Given the description of an element on the screen output the (x, y) to click on. 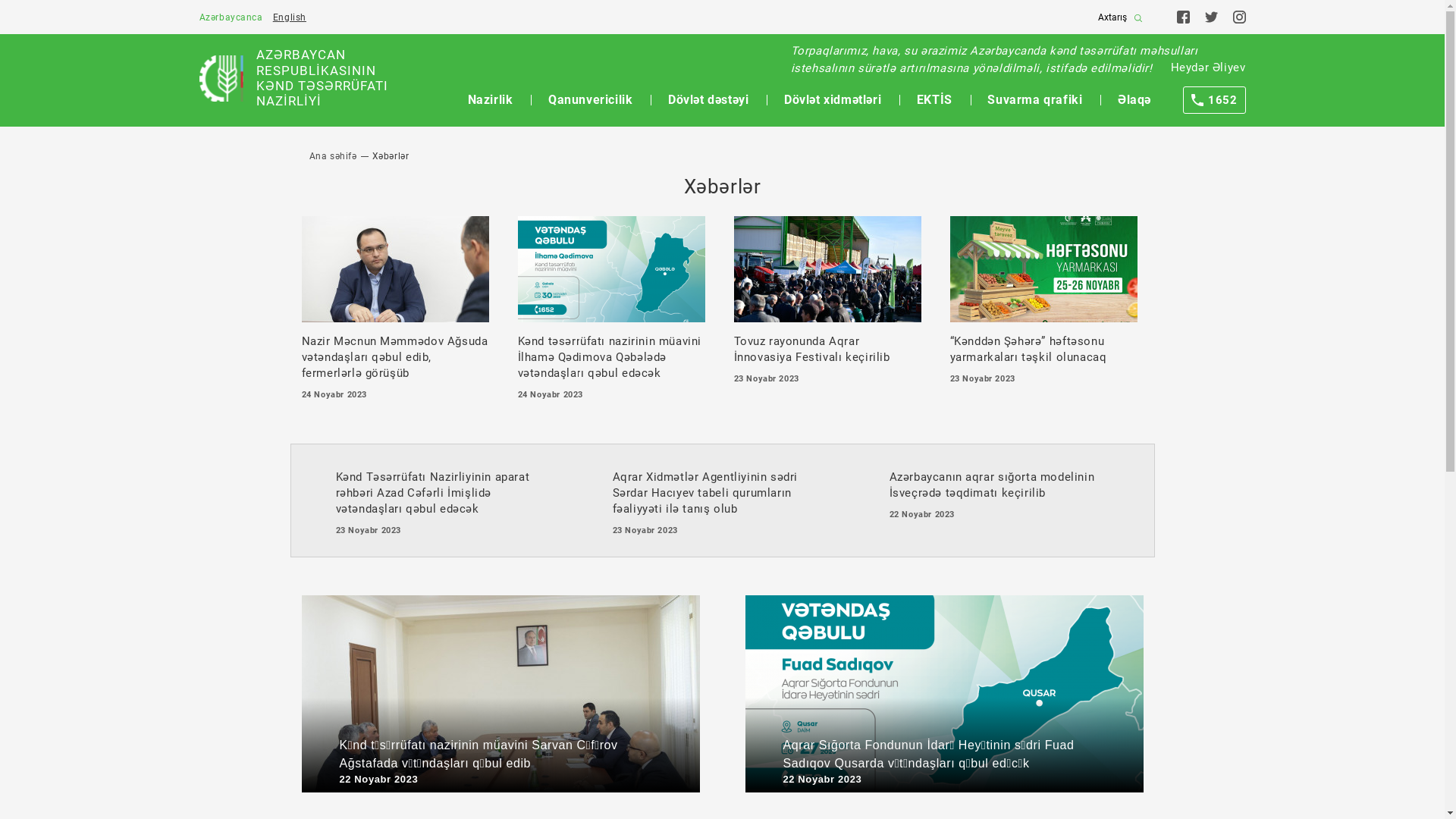
English Element type: text (289, 17)
Nazirlik Element type: text (490, 99)
Qanunvericilik Element type: text (590, 99)
1652 Element type: text (1214, 100)
Suvarma qrafiki Element type: text (1034, 99)
